Given the description of an element on the screen output the (x, y) to click on. 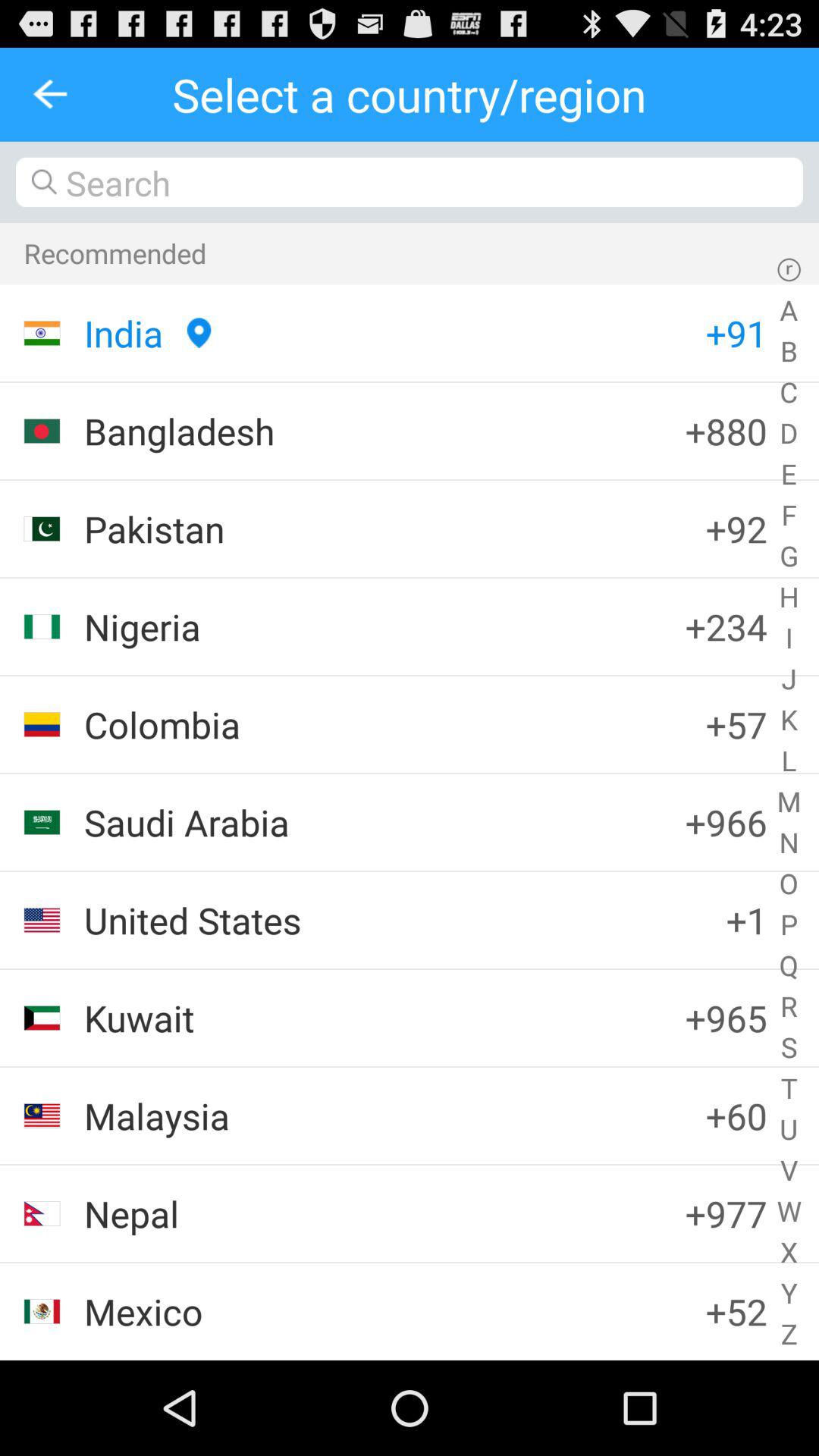
website search field look for a country or region (409, 182)
